Given the description of an element on the screen output the (x, y) to click on. 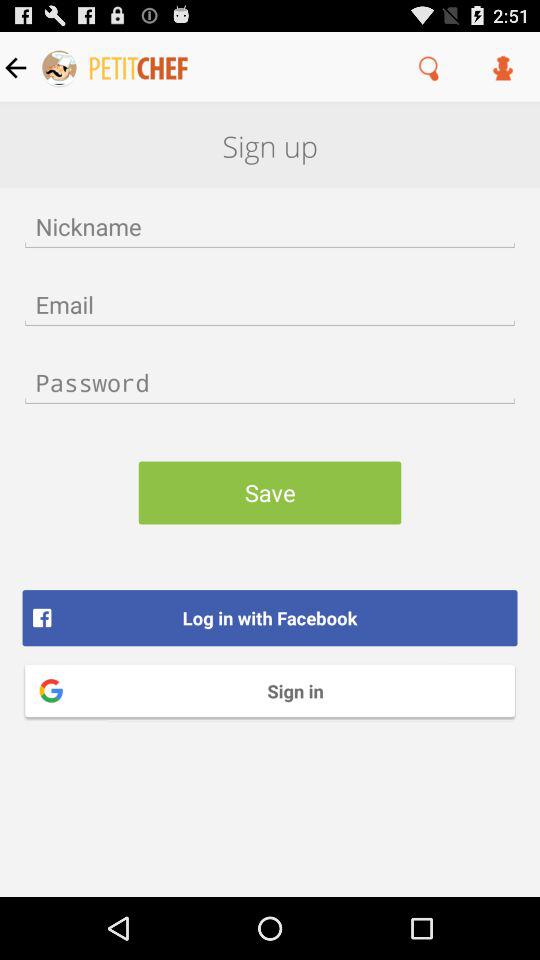
enter your email (269, 304)
